Given the description of an element on the screen output the (x, y) to click on. 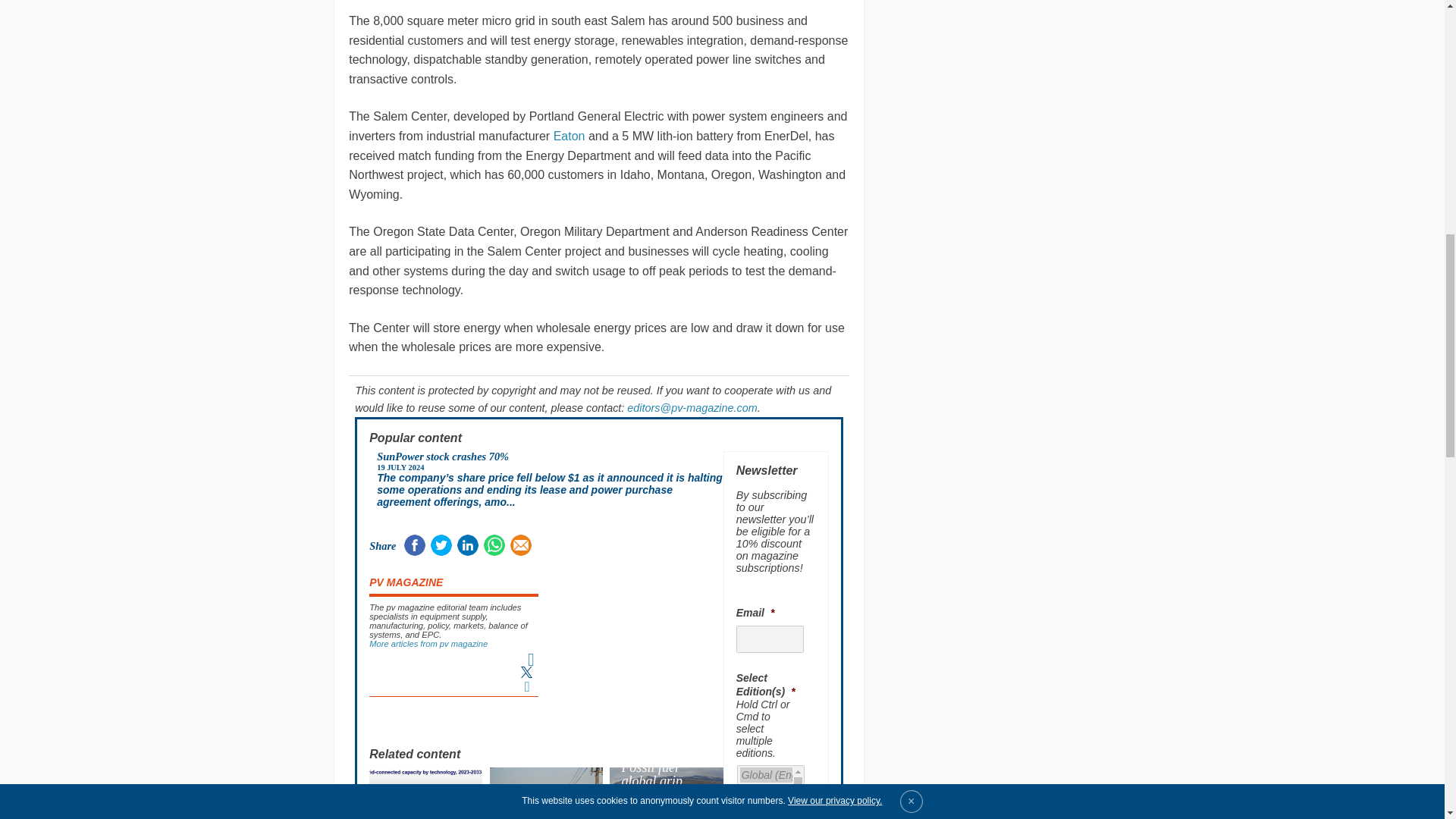
3rd party ad content (638, 640)
